Given the description of an element on the screen output the (x, y) to click on. 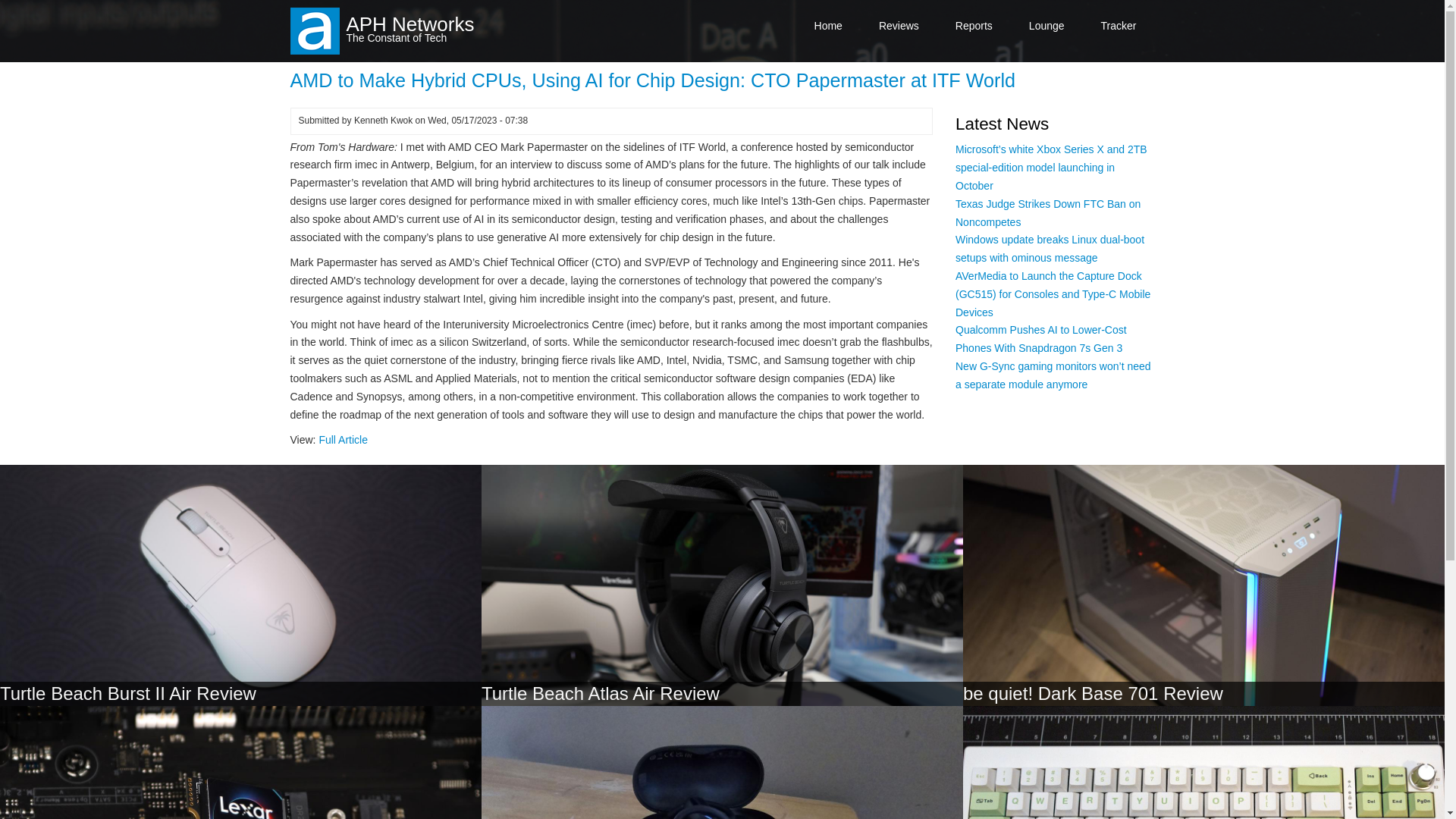
be quiet! Dark Base 701 Review (1092, 693)
Cool products, funny stuff, tutorials (1046, 26)
See the latest review schedule (1118, 26)
Tracker (1118, 26)
Return to APH Networks Main (828, 26)
Home (410, 24)
APH Networks (410, 24)
Wednesday, May 17, 2023 - 07:38 (477, 120)
